Given the description of an element on the screen output the (x, y) to click on. 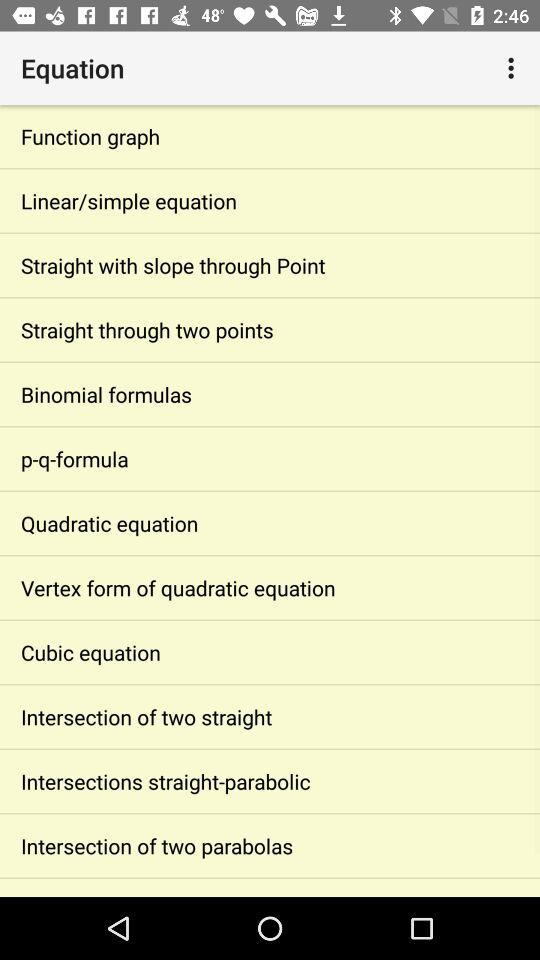
launch item above the p-q-formula app (270, 394)
